Given the description of an element on the screen output the (x, y) to click on. 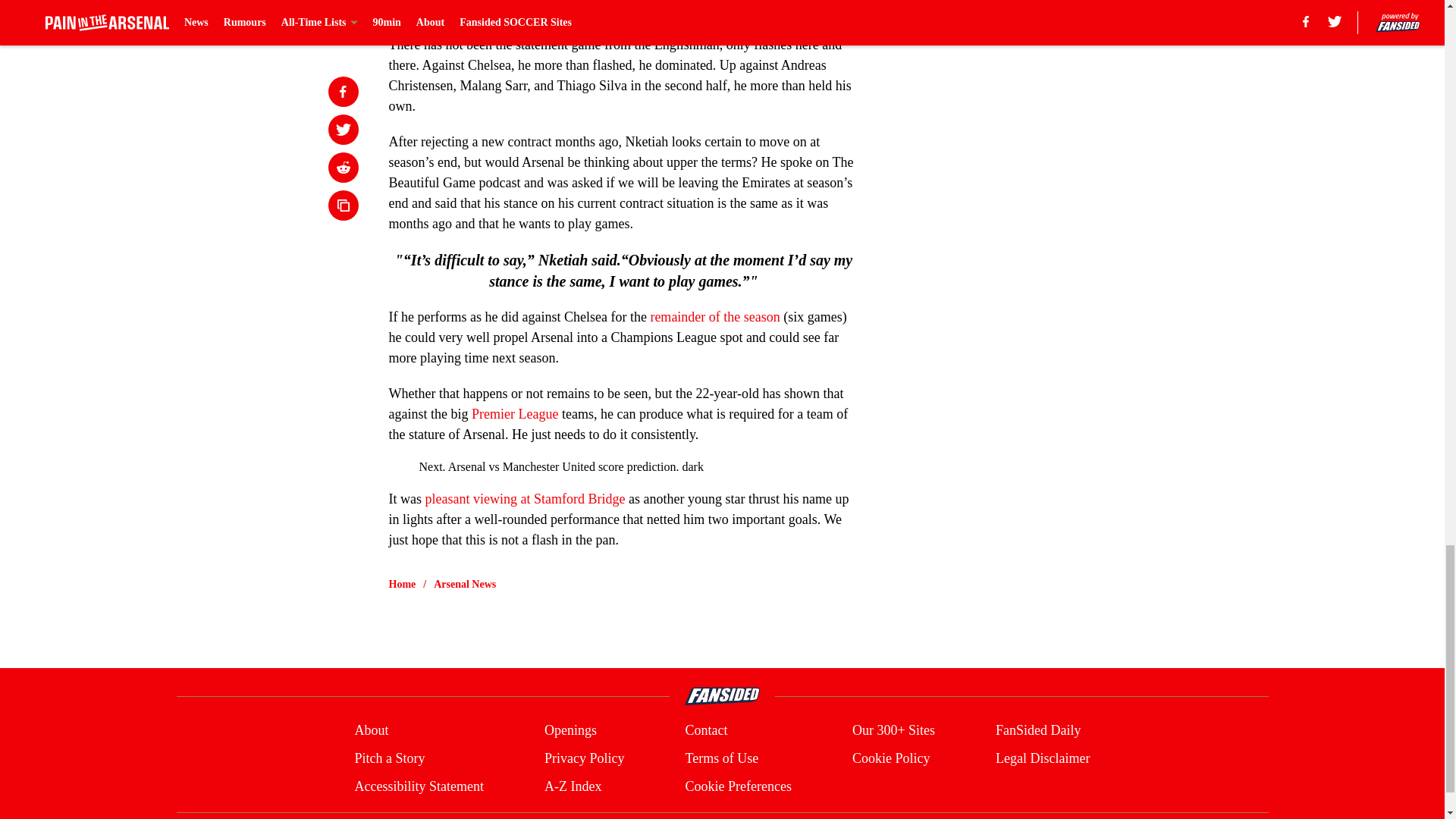
Contact (705, 730)
Openings (570, 730)
About (370, 730)
Privacy Policy (584, 758)
Arsenal News (464, 584)
Cookie Policy (890, 758)
Home (401, 584)
pleasant viewing at Stamford Bridge (524, 498)
Premier League (514, 413)
Terms of Use (721, 758)
